Given the description of an element on the screen output the (x, y) to click on. 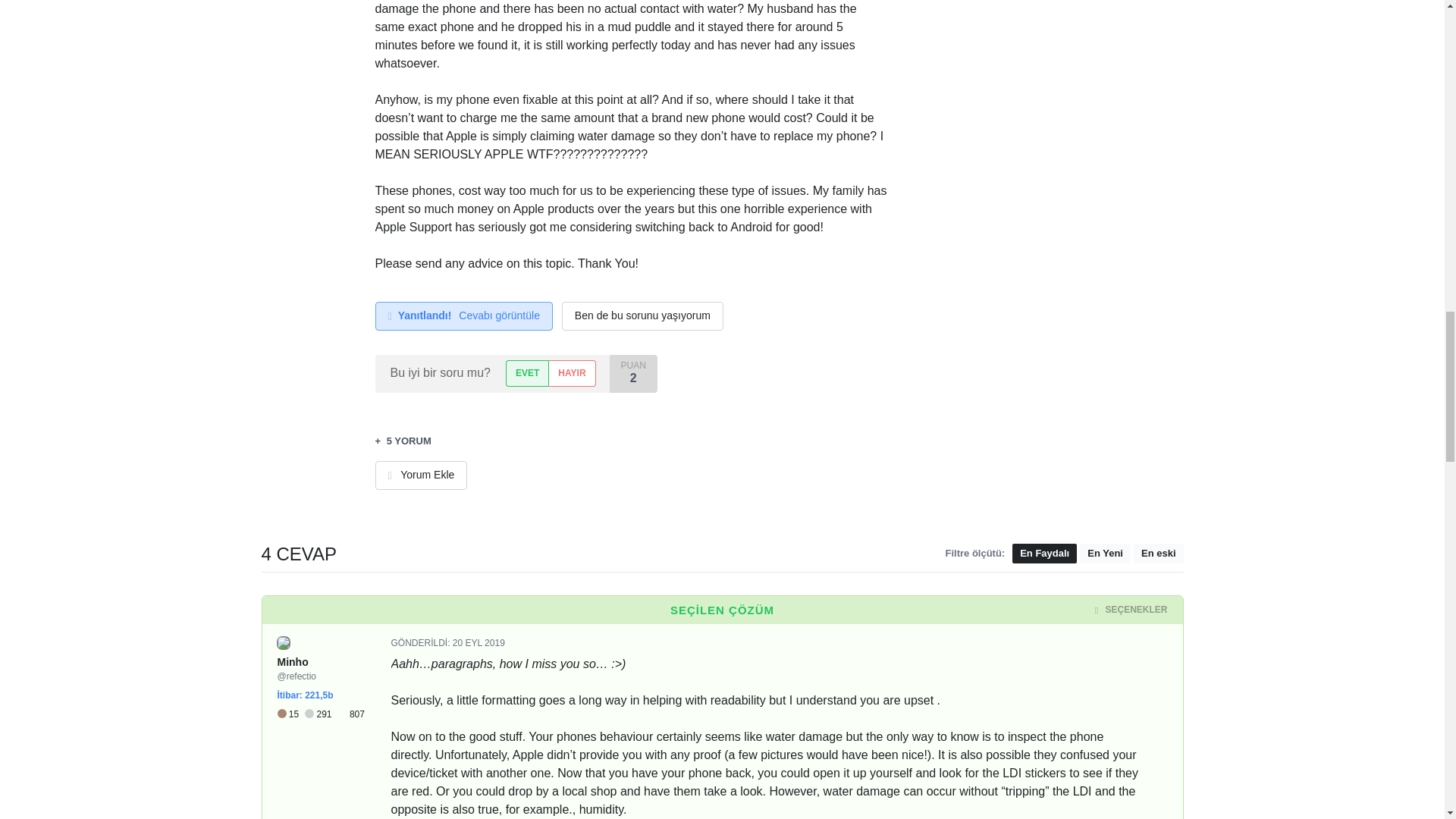
15 Bronz rozeti (291, 714)
HAYIR (571, 373)
EVET (526, 373)
Yorum Ekle (420, 475)
Fri, 20 Sep 2019 10:21:36 -0700 (478, 643)
En Yeni (1105, 553)
En eski (1158, 553)
